Given the description of an element on the screen output the (x, y) to click on. 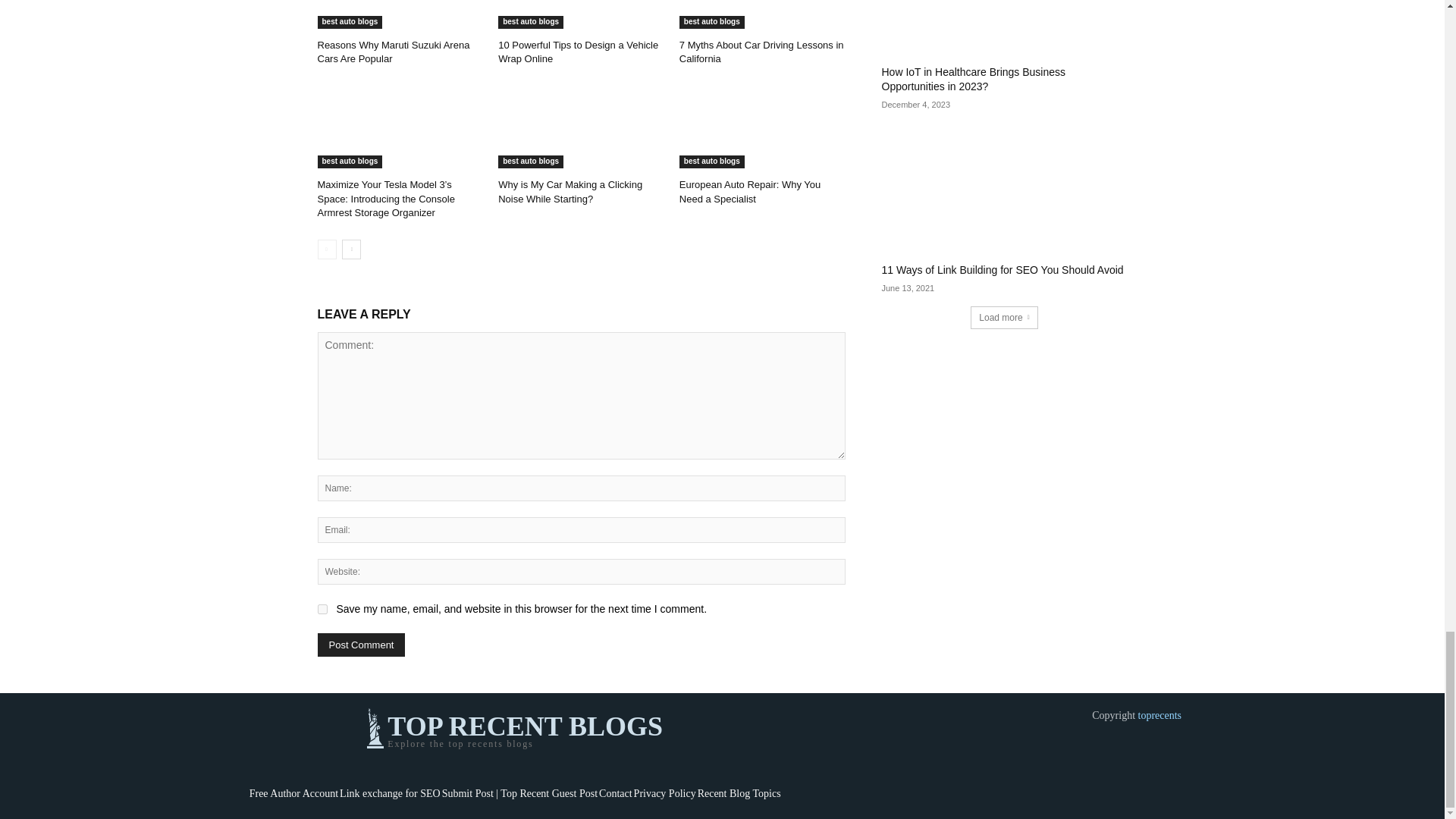
yes (321, 609)
Post Comment (360, 644)
